Given the description of an element on the screen output the (x, y) to click on. 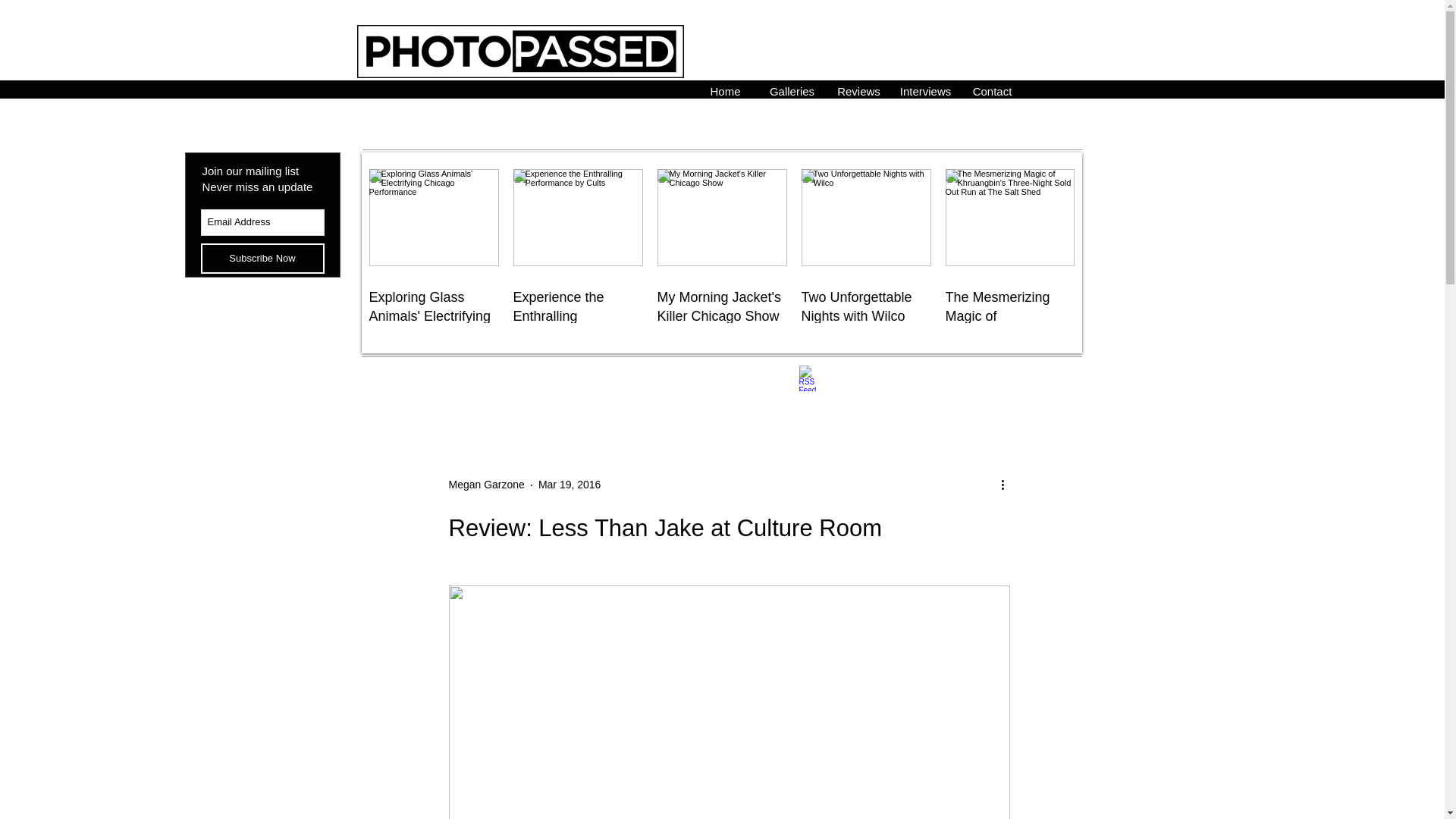
Exploring Glass Animals' Electrifying Chicago Performance (432, 326)
Home (724, 89)
RSS Feed (812, 378)
Subscribe Now (261, 258)
My Morning Jacket's Killer Chicago Show (721, 306)
Two Unforgettable Nights with Wilco (865, 306)
Interviews (924, 89)
Megan Garzone (486, 484)
Mar 19, 2016 (569, 484)
